Given the description of an element on the screen output the (x, y) to click on. 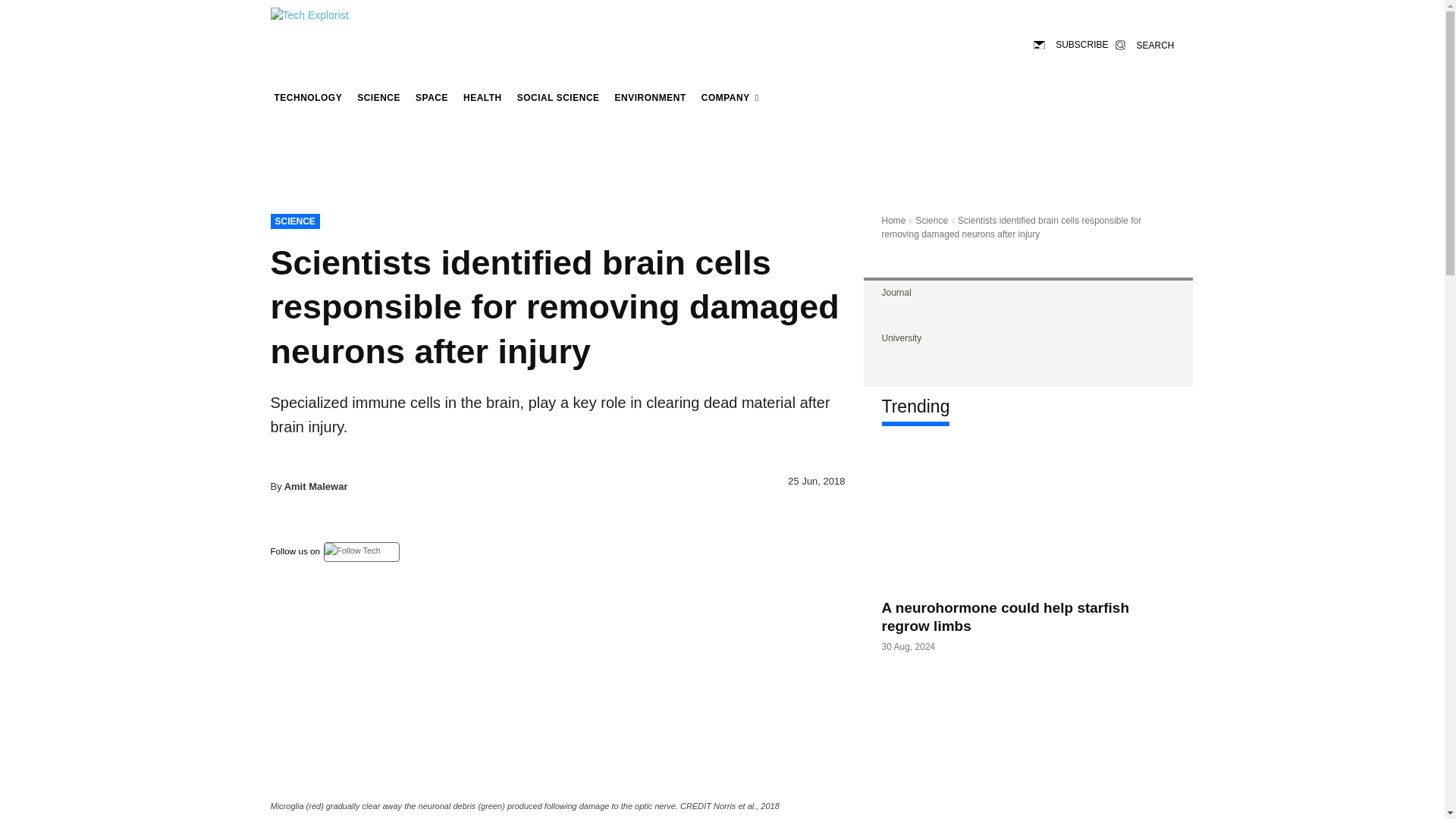
HEALTH (482, 97)
Amit Malewar (315, 486)
TECHNOLOGY (307, 97)
SOCIAL SCIENCE (558, 97)
ENVIRONMENT (650, 97)
Tech Explorist (326, 21)
Technology (307, 97)
brain cells (556, 696)
COMPANY (729, 97)
SCIENCE (293, 221)
